Given the description of an element on the screen output the (x, y) to click on. 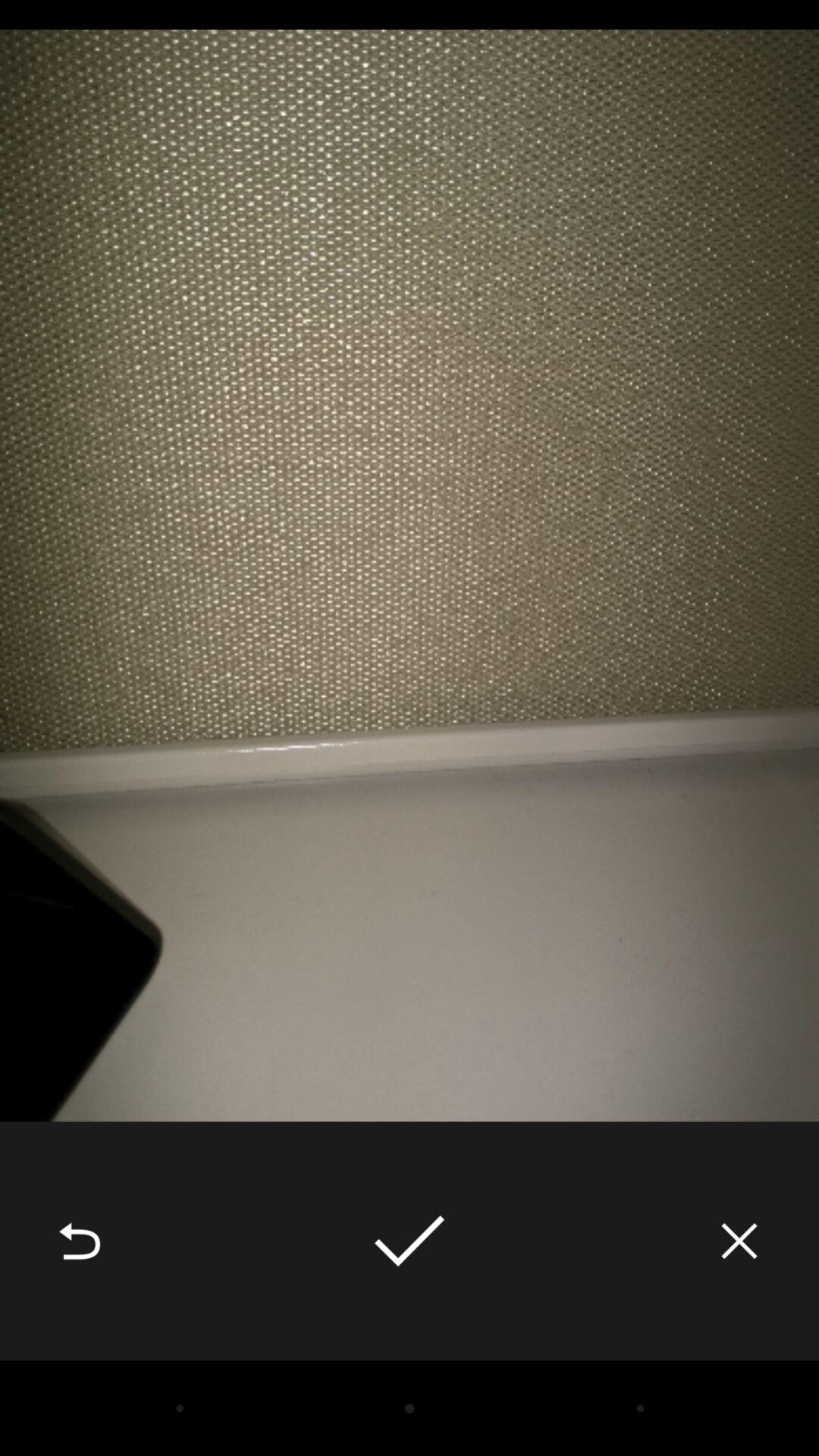
select the item at the bottom right corner (739, 1240)
